Given the description of an element on the screen output the (x, y) to click on. 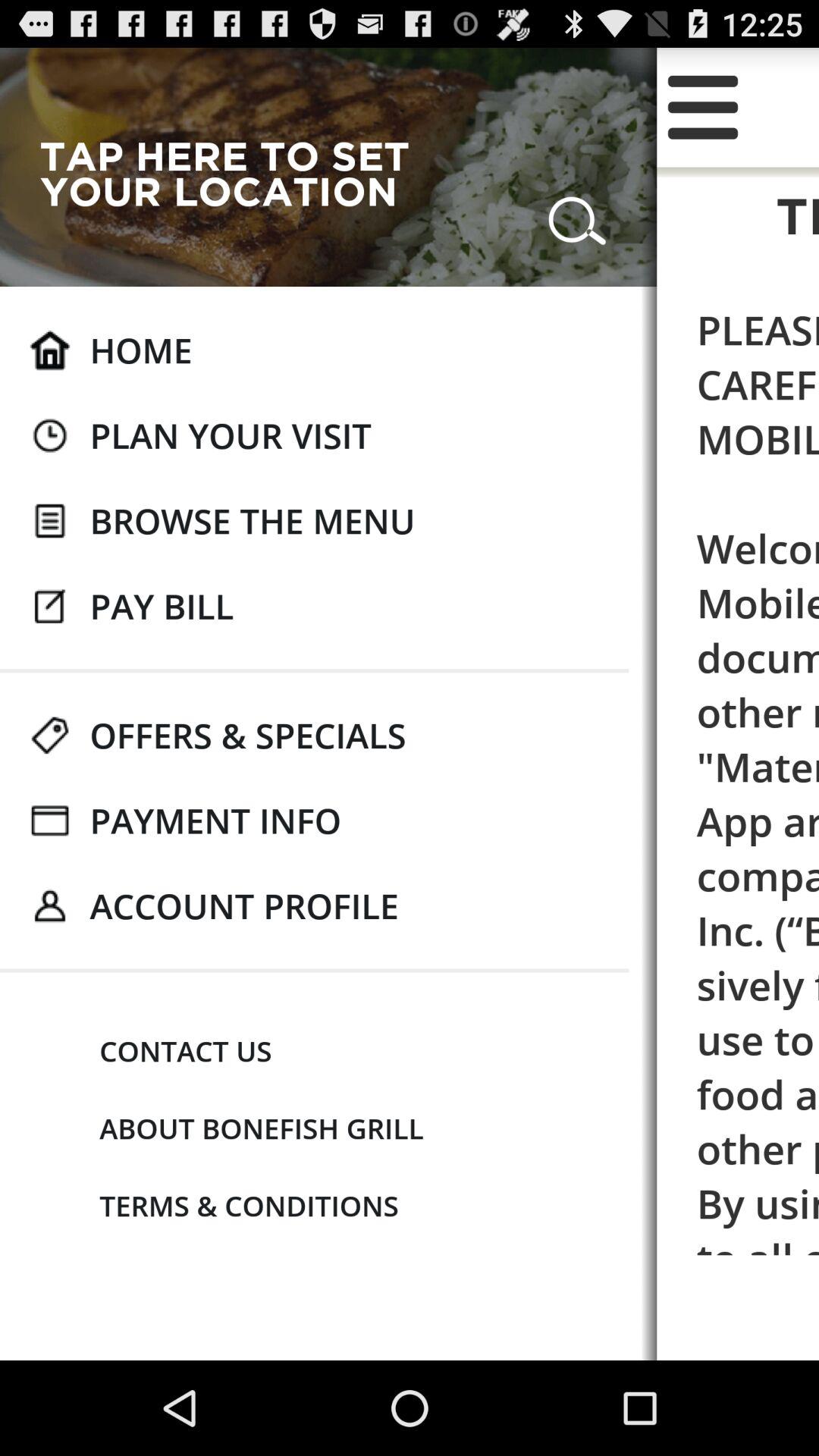
turn off item to the left of the please read these item (230, 435)
